Given the description of an element on the screen output the (x, y) to click on. 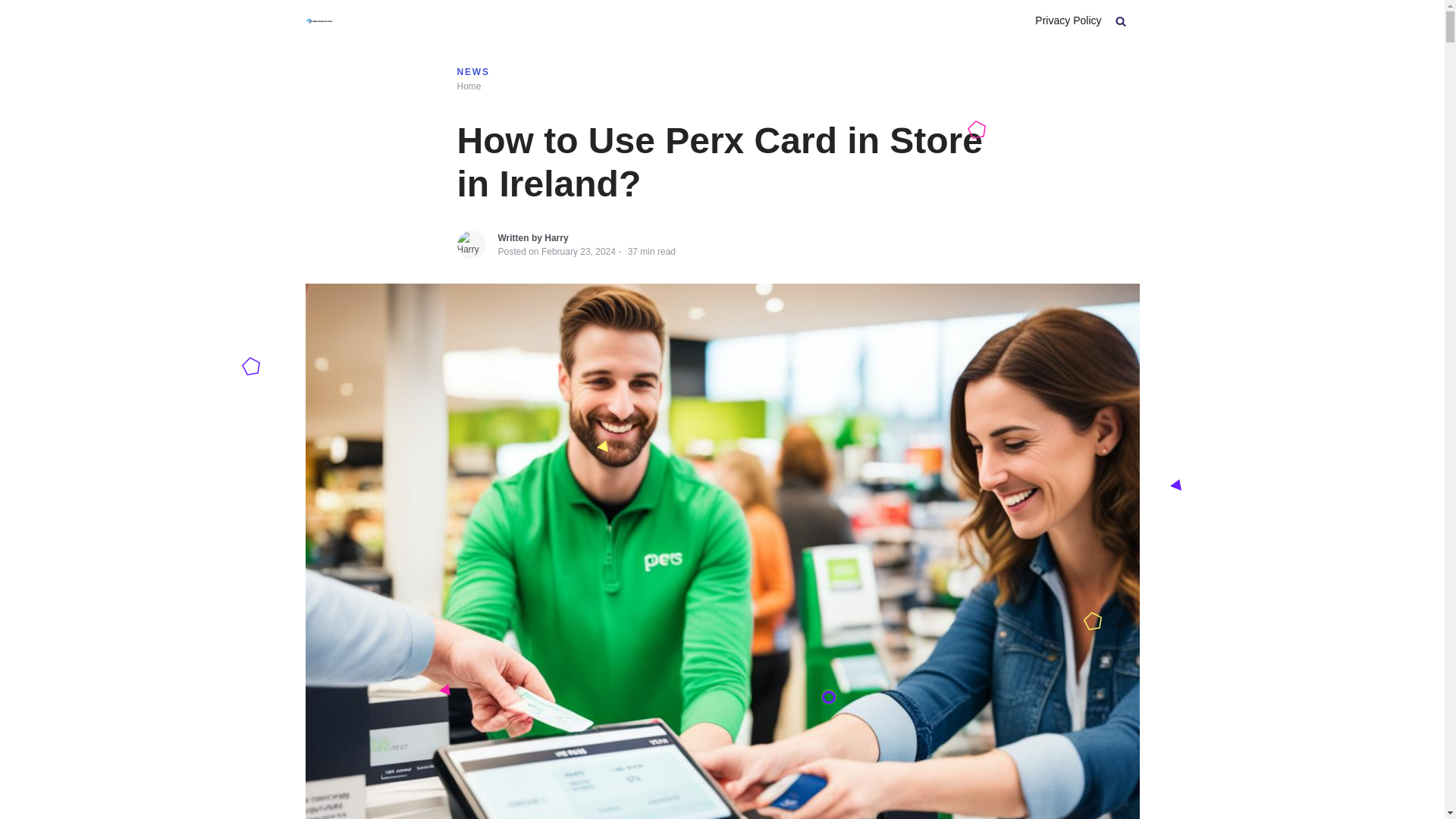
Home (468, 81)
Harry (555, 245)
Ireland Business News (468, 86)
Privacy Policy (1067, 20)
Ireland Business News (317, 20)
NEWS (473, 67)
February 23, 2024 (578, 258)
